Given the description of an element on the screen output the (x, y) to click on. 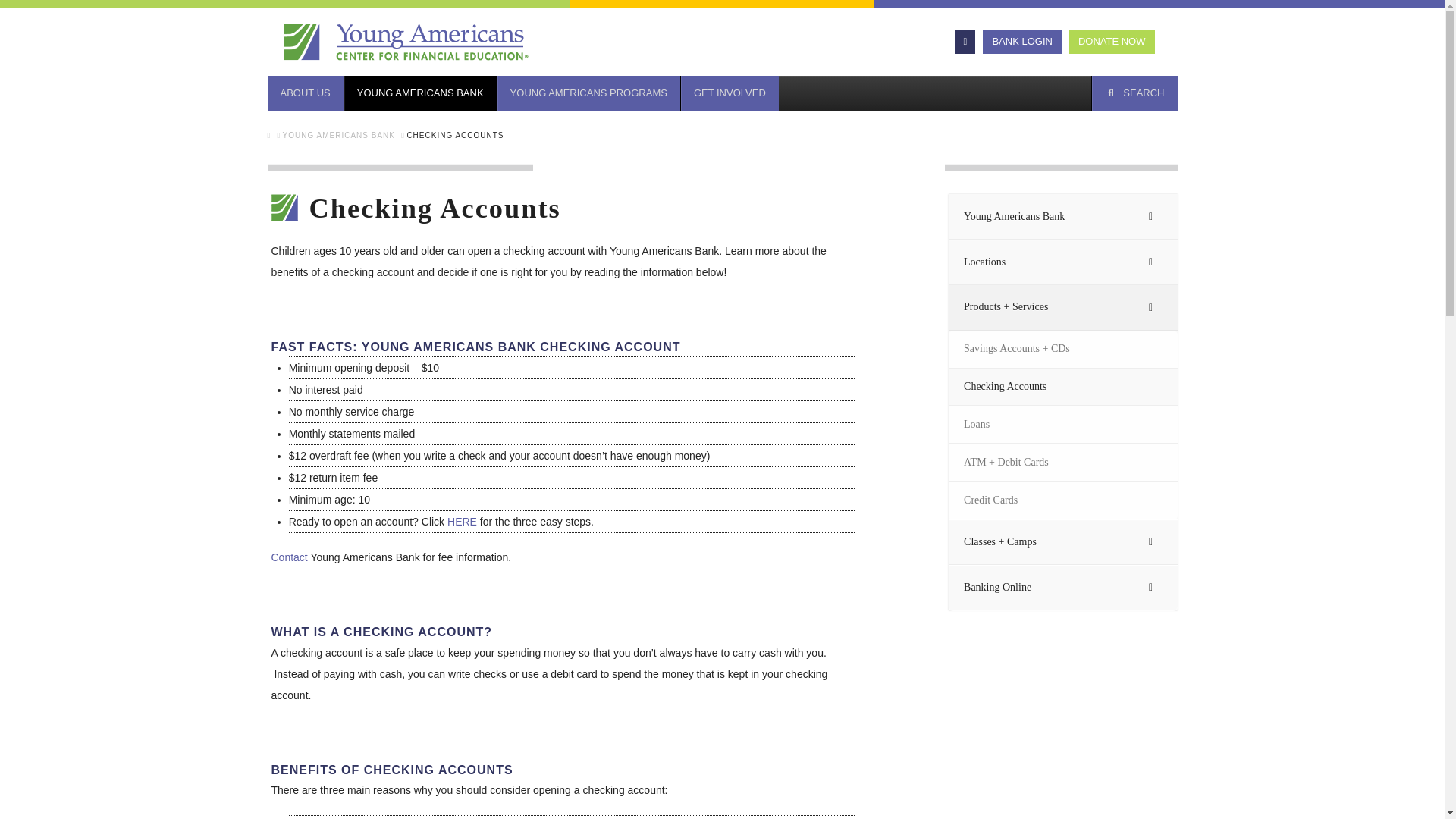
BANK LOGIN (1021, 42)
You Are Here (454, 135)
DONATE NOW (1111, 42)
ABOUT US (304, 93)
